Given the description of an element on the screen output the (x, y) to click on. 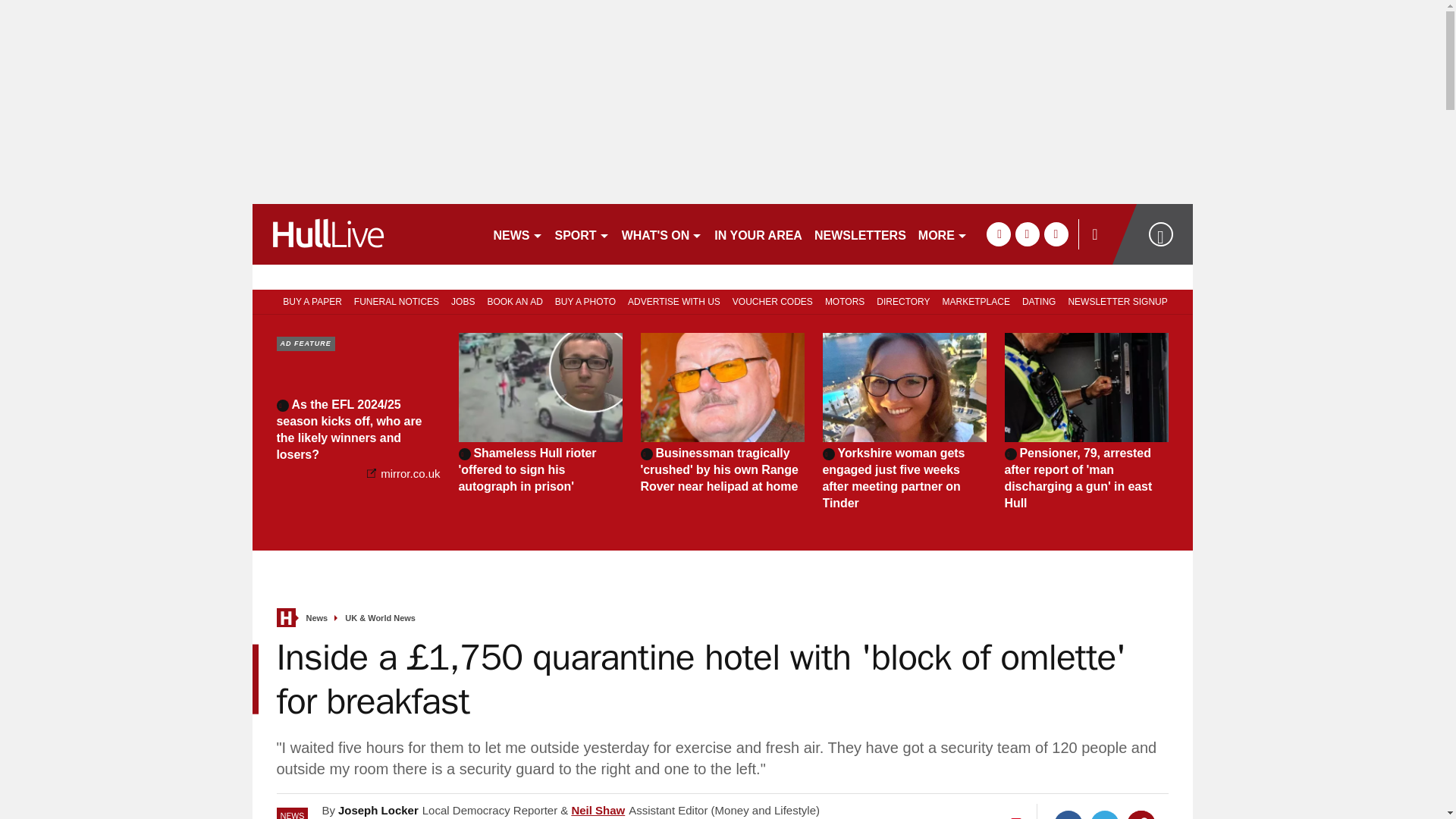
instagram (1055, 233)
NEWSLETTERS (860, 233)
facebook (997, 233)
IN YOUR AREA (757, 233)
WHAT'S ON (662, 233)
SPORT (581, 233)
Facebook (1068, 814)
MORE (943, 233)
NEWS (517, 233)
hulldailymail (365, 233)
